Given the description of an element on the screen output the (x, y) to click on. 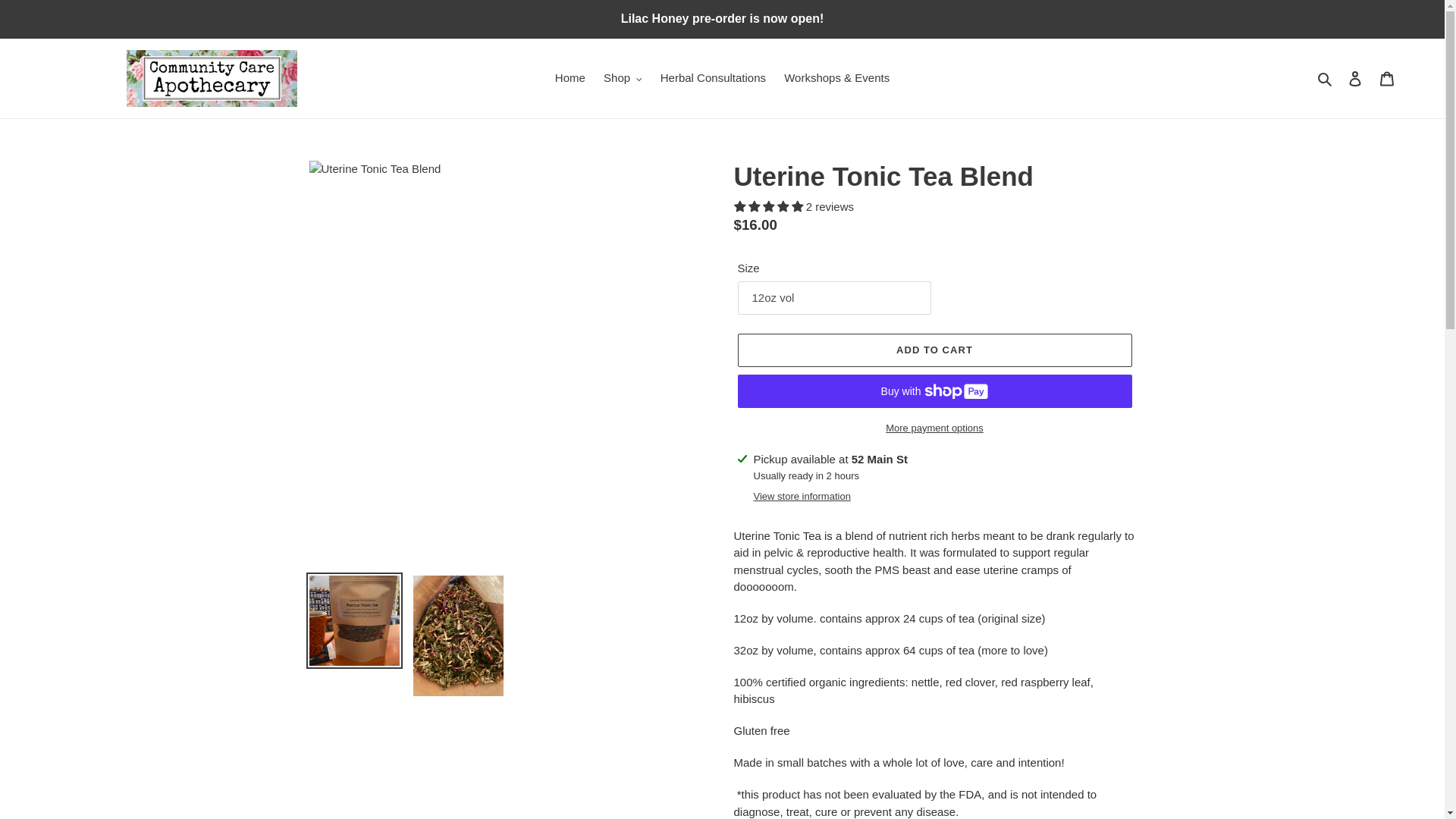
Log in (1355, 78)
Cart (1387, 78)
Herbal Consultations (712, 78)
Shop (622, 78)
Lilac Honey pre-order is now open! (721, 18)
Search (1326, 77)
Home (569, 78)
